Given the description of an element on the screen output the (x, y) to click on. 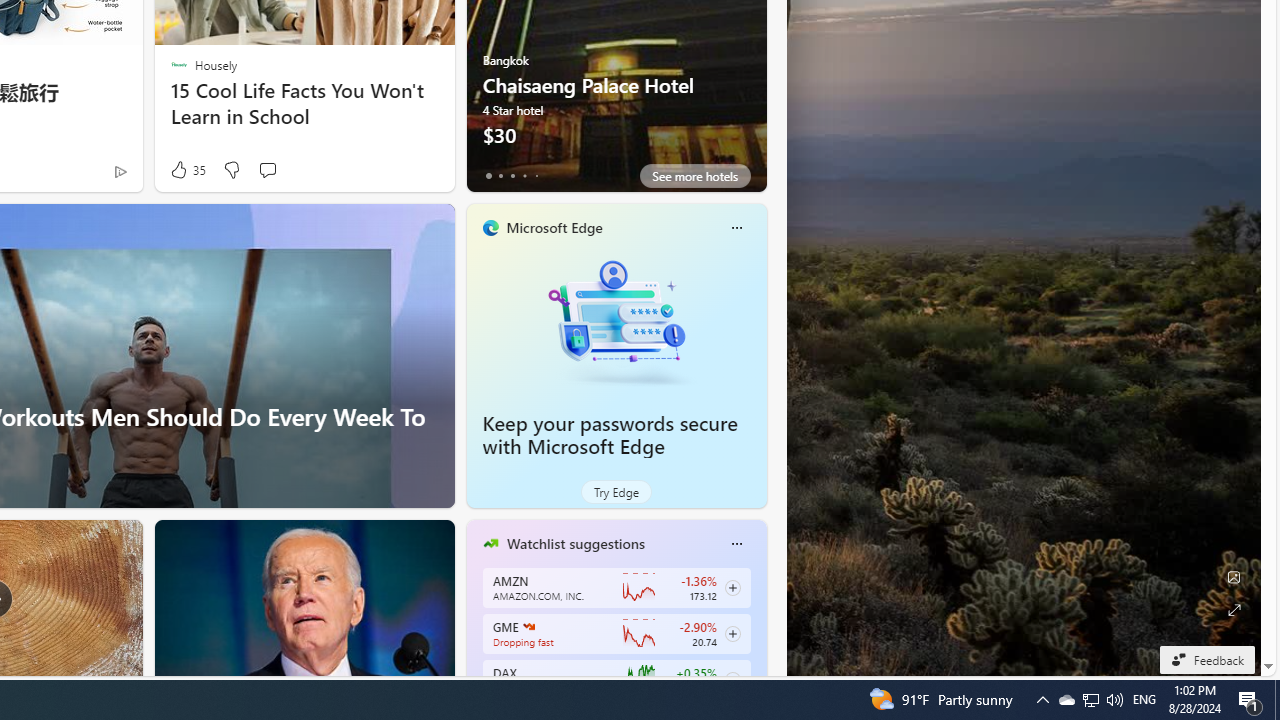
tab-4 (535, 175)
Microsoft Edge (553, 227)
Start the conversation (267, 170)
Class: icon-img (736, 543)
More options (736, 543)
Dislike (230, 170)
Ad Choice (119, 171)
GAMESTOP CORP. (528, 626)
35 Like (186, 170)
tab-0 (488, 175)
